Given the description of an element on the screen output the (x, y) to click on. 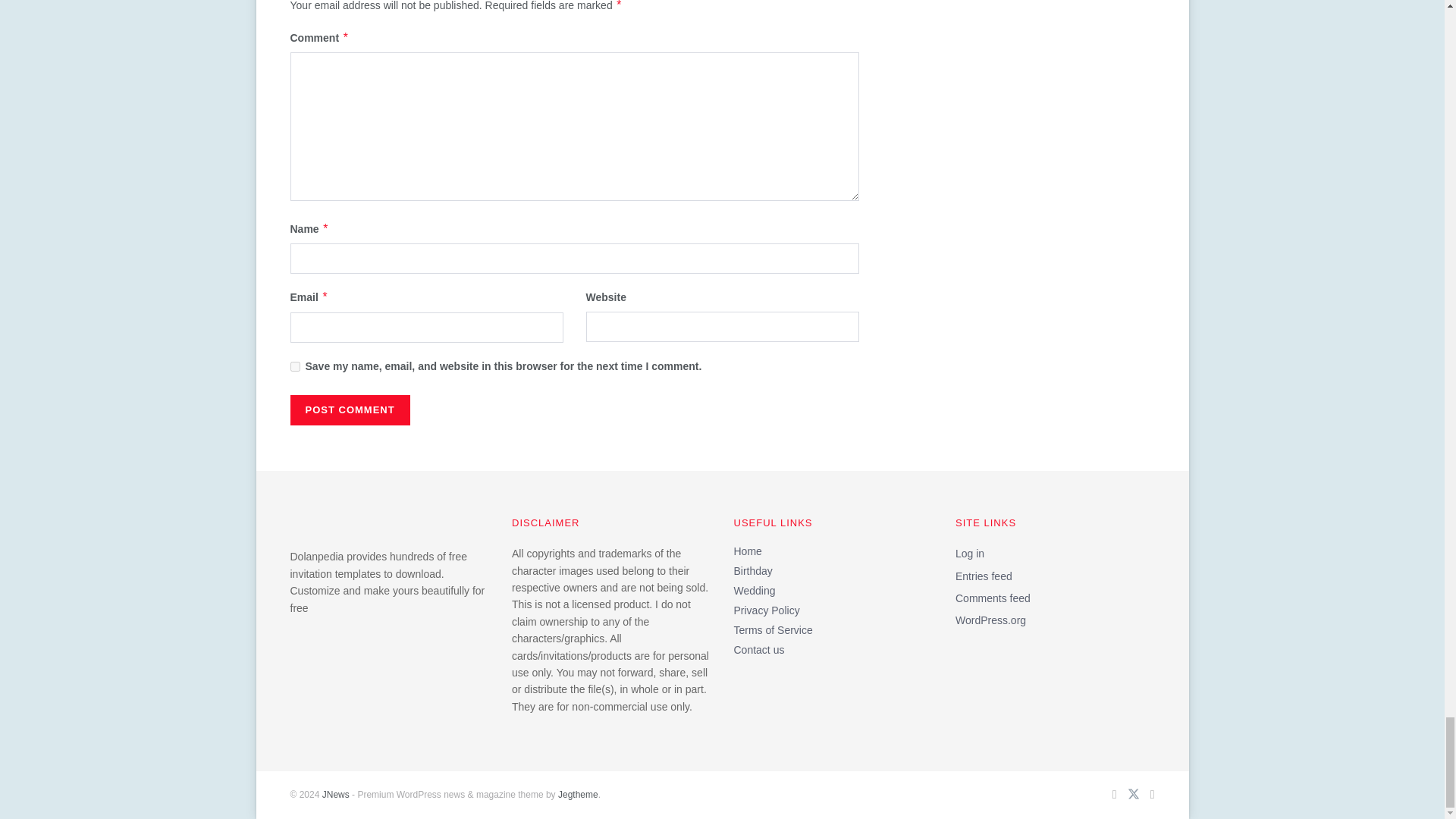
yes (294, 366)
Post Comment (349, 409)
Jegtheme (577, 794)
